Given the description of an element on the screen output the (x, y) to click on. 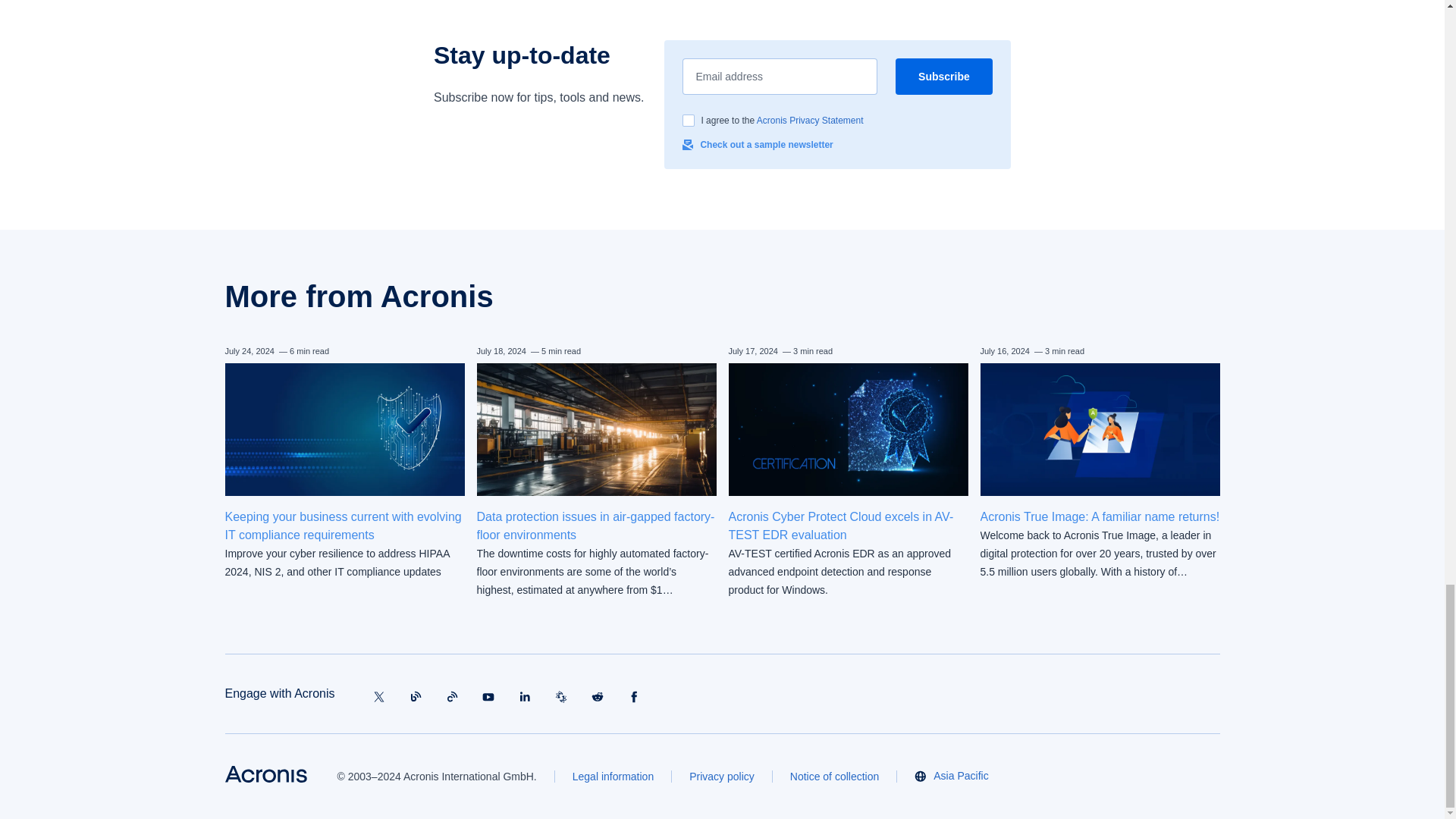
Acronis (264, 773)
